Given the description of an element on the screen output the (x, y) to click on. 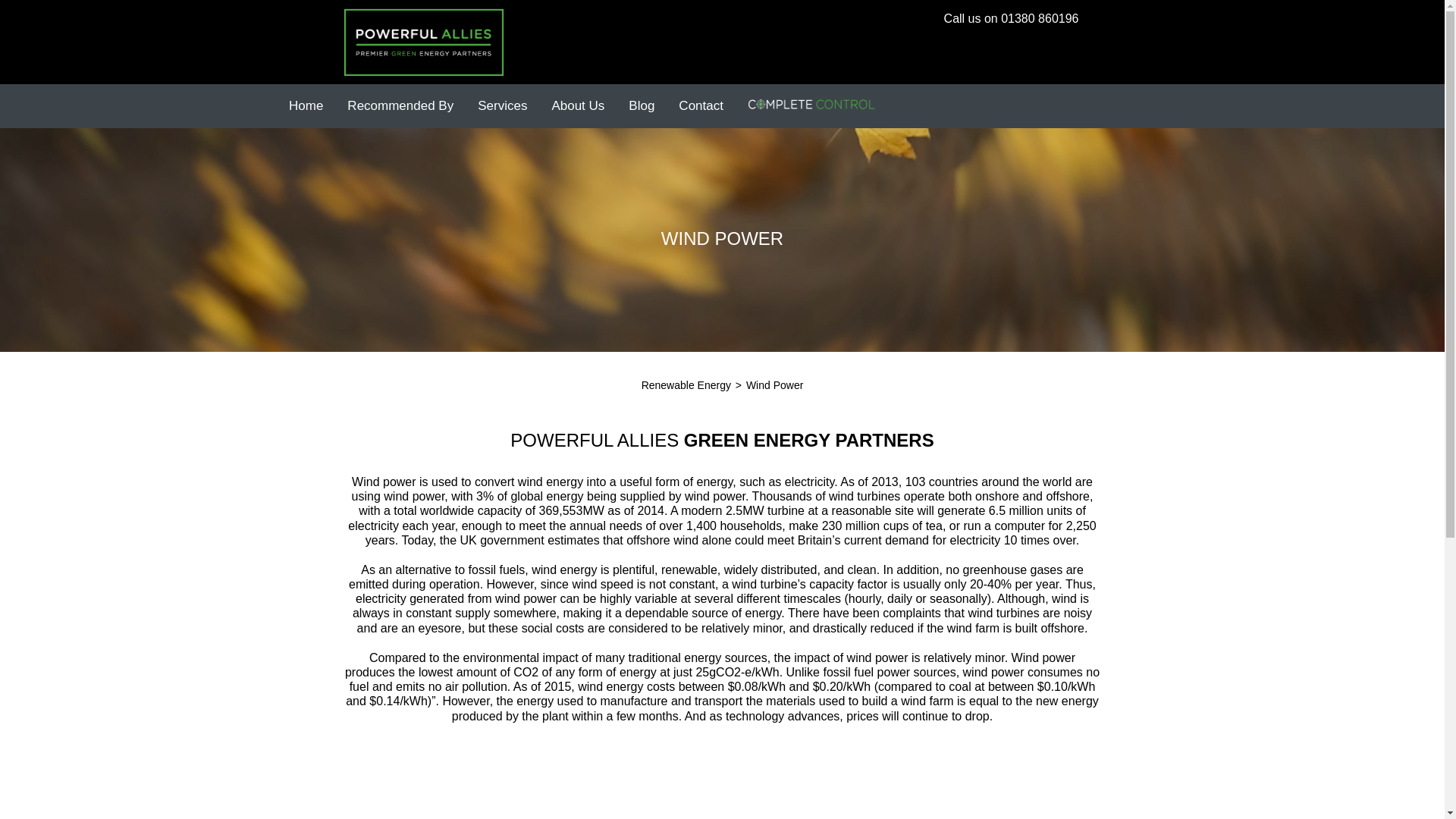
About Us (576, 105)
Recommended By (399, 105)
01380 860196 (1039, 18)
Contact (700, 105)
Renewable Energy (687, 385)
Home (305, 105)
Powerful Allies - Powerful Allies (422, 41)
Services (501, 105)
Blog (640, 105)
